Given the description of an element on the screen output the (x, y) to click on. 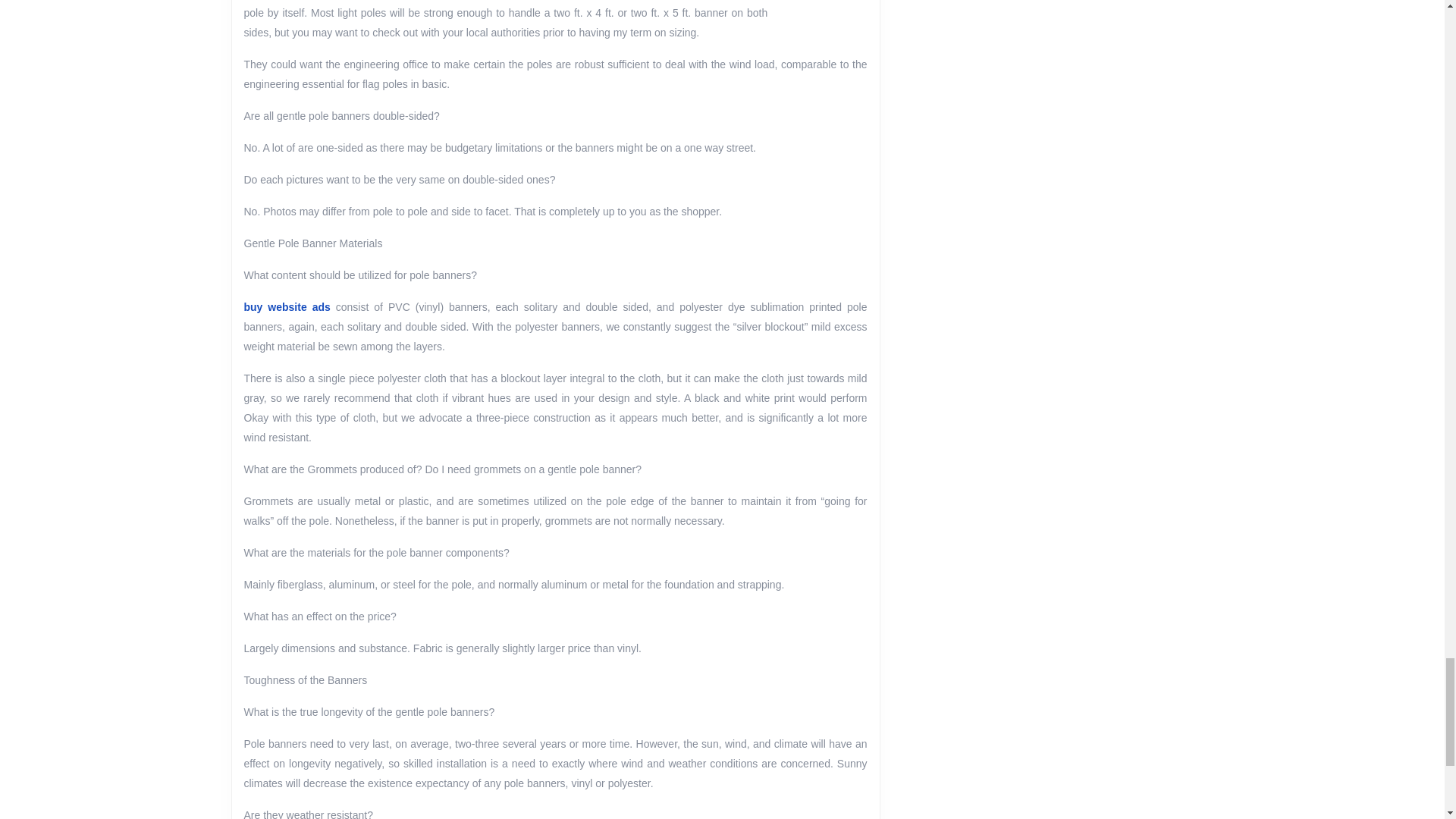
buy website ads (287, 306)
